Given the description of an element on the screen output the (x, y) to click on. 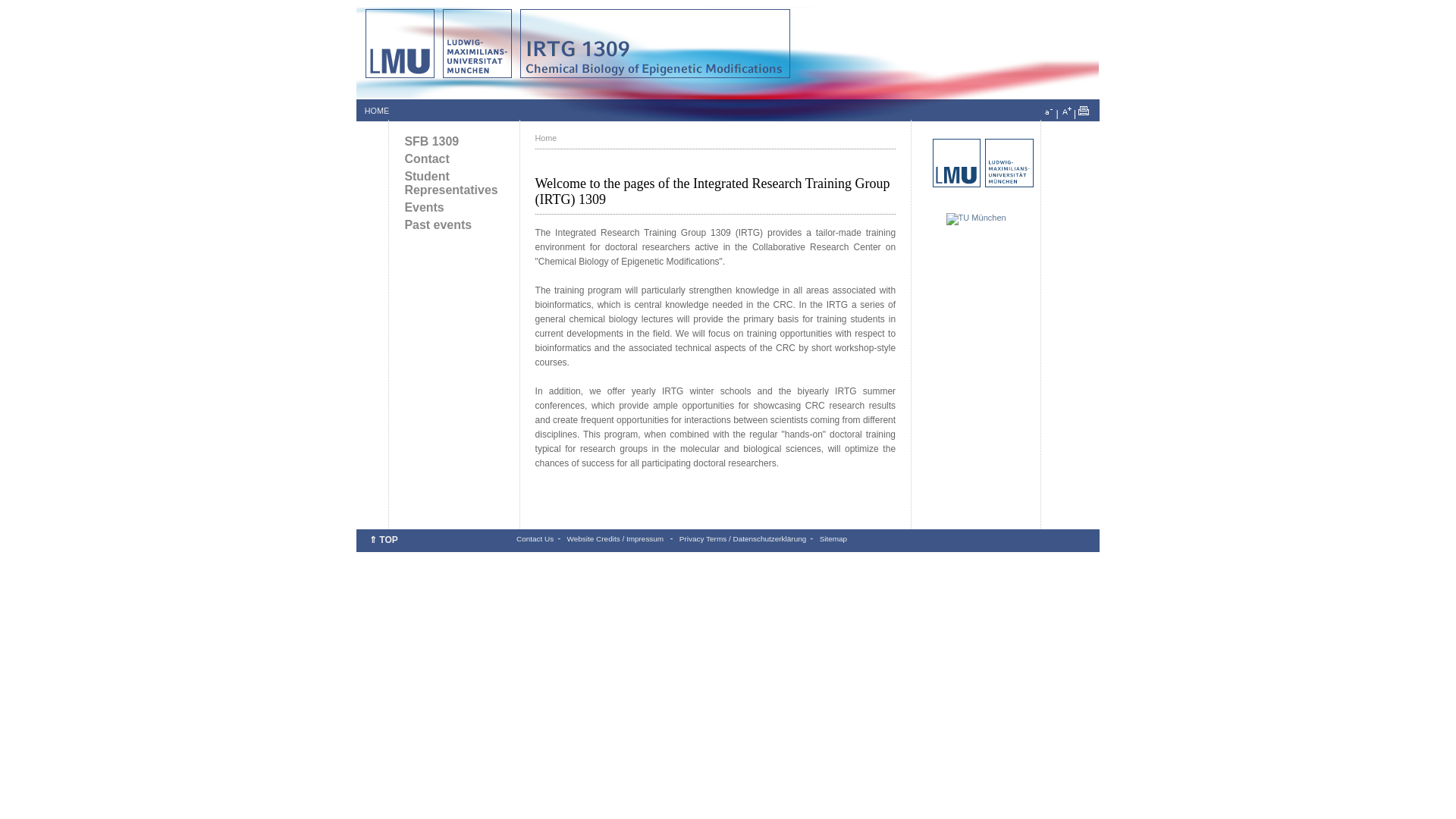
LMUexcellent (985, 184)
SFB 1309 (453, 141)
Past events (453, 224)
Sitemap (833, 538)
HOME (376, 110)
Home (546, 137)
Contact Us (534, 538)
Contact Us (534, 538)
Events (453, 207)
Student Representatives (453, 183)
Sitemap (833, 538)
Contact (453, 159)
